Given the description of an element on the screen output the (x, y) to click on. 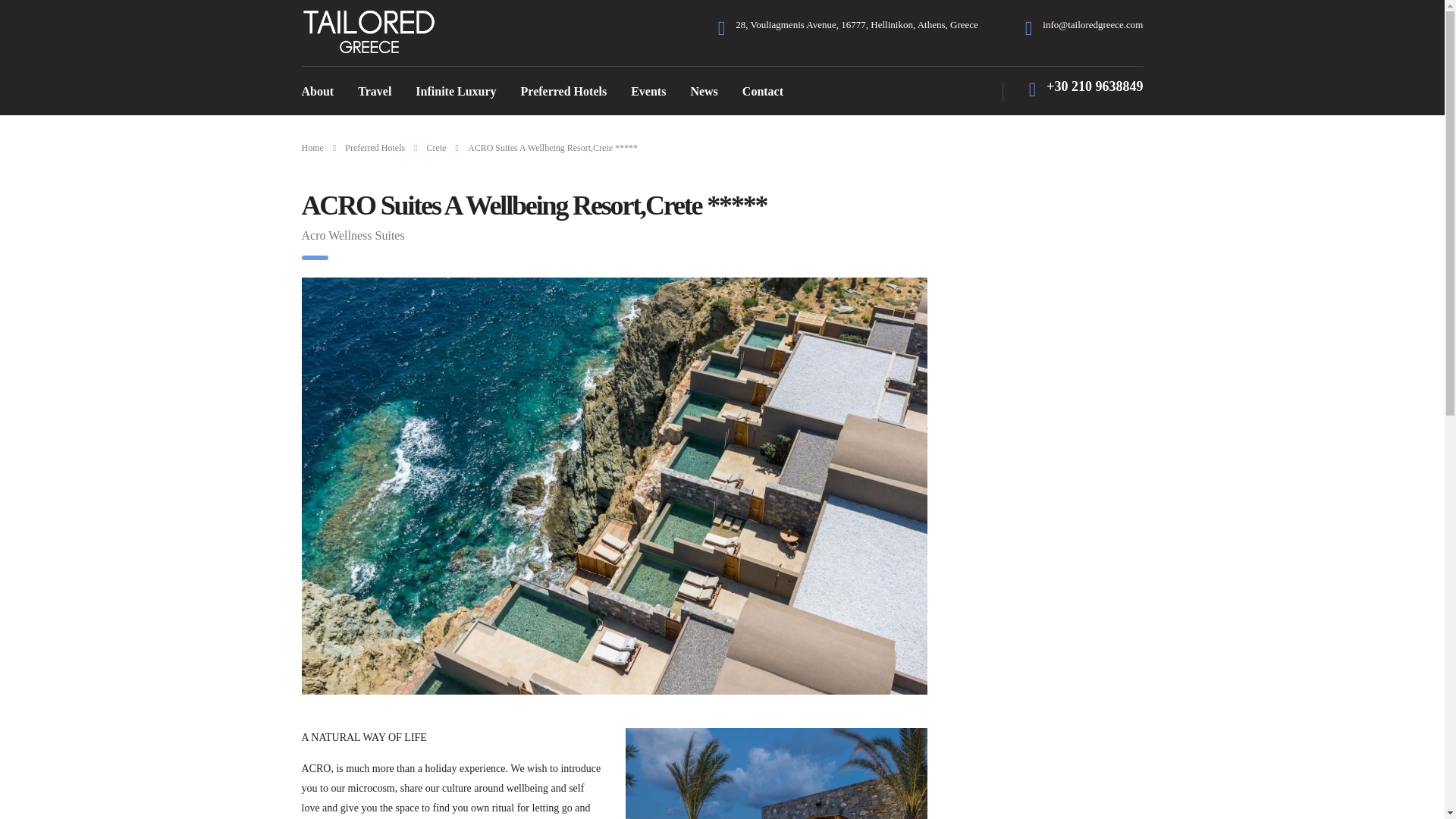
About (317, 90)
Go to Preferred Hotels. (374, 147)
Infinite Luxury (455, 90)
28, Vouliagmenis Avenue, 16777, Hellinikon, Athens, Greece (856, 24)
Travel (374, 90)
Events (648, 90)
News (703, 90)
Preferred Hotels (564, 90)
Home (312, 147)
Contact (762, 90)
Crete (436, 147)
Go to Tailored Greece. (312, 147)
Preferred Hotels (374, 147)
Go to the Crete Categories archives. (436, 147)
